Given the description of an element on the screen output the (x, y) to click on. 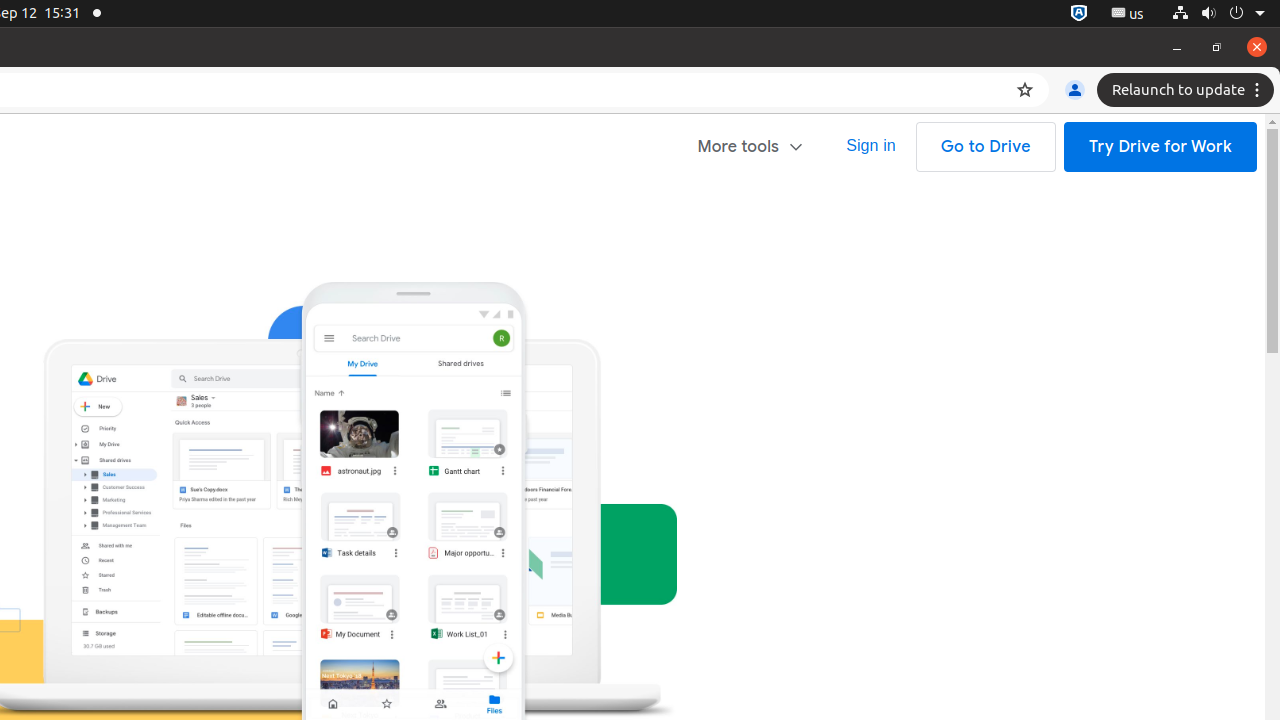
:1.72/StatusNotifierItem Element type: menu (1079, 13)
:1.21/StatusNotifierItem Element type: menu (1127, 13)
Sign in Element type: link (871, 146)
Try Drive for Work Element type: link (1160, 147)
You Element type: push-button (1075, 90)
